Given the description of an element on the screen output the (x, y) to click on. 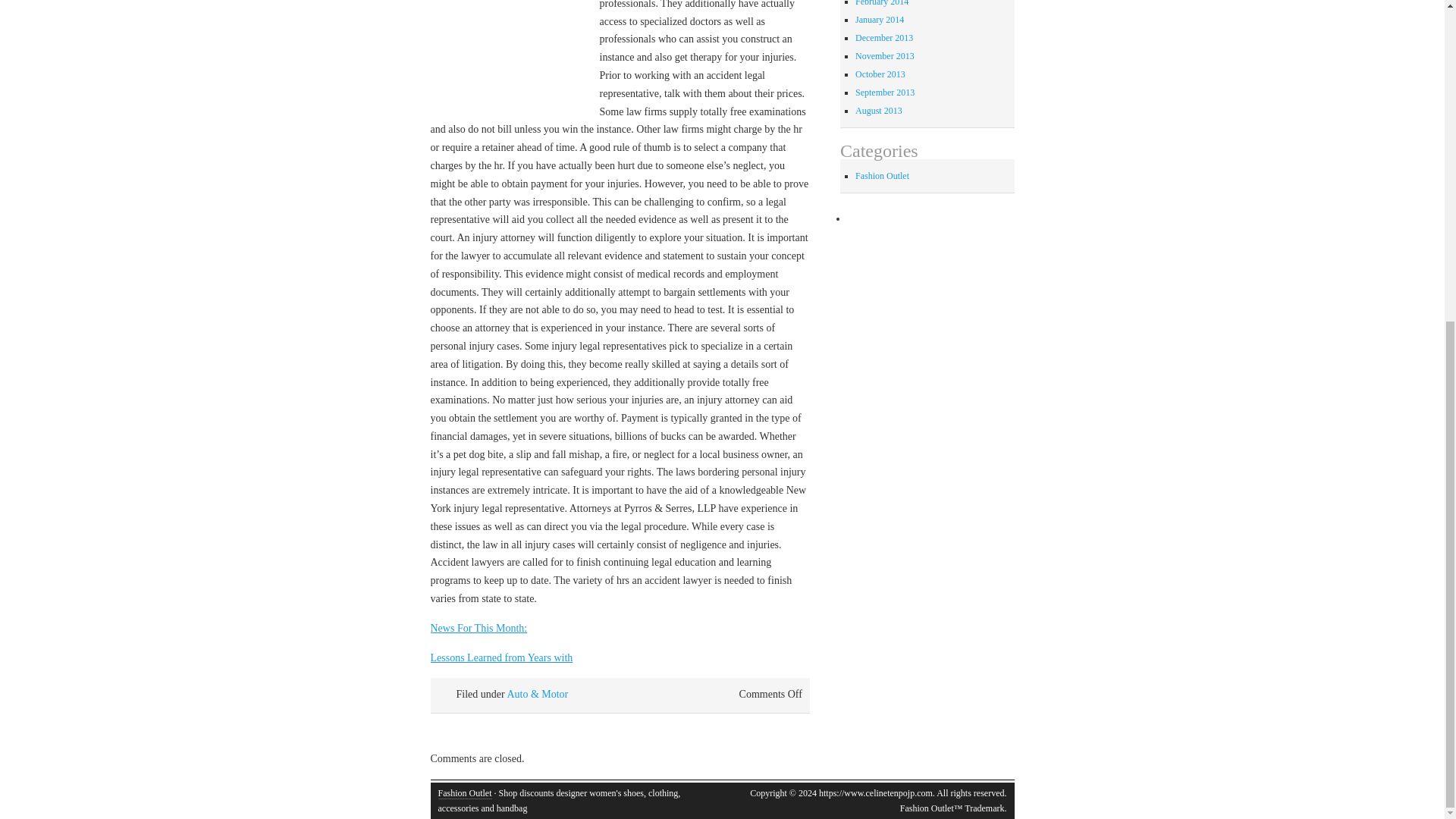
February 2014 (882, 3)
August 2013 (879, 110)
Fashion Outlet (465, 793)
September 2013 (885, 91)
December 2013 (884, 37)
October 2013 (880, 73)
View all posts filed under Fashion Outlet (882, 175)
November 2013 (885, 55)
Lessons Learned from Years with (501, 657)
Fashion Outlet (465, 793)
